Given the description of an element on the screen output the (x, y) to click on. 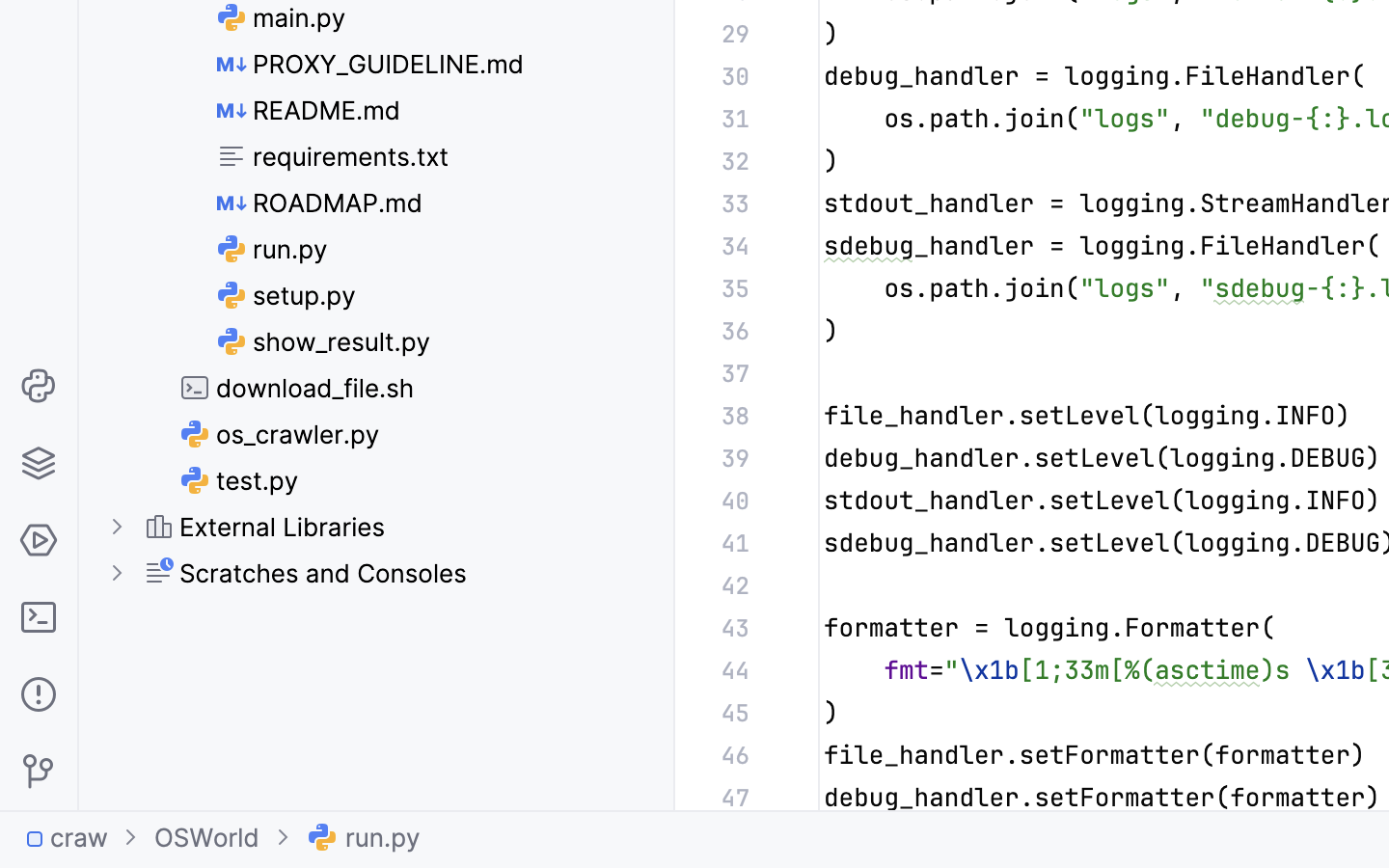
download_file.sh Element type: AXStaticText (297, 387)
0 Element type: AXStaticText (323, 341)
PROXY_GUIDELINE.md Element type: AXStaticText (371, 63)
